Given the description of an element on the screen output the (x, y) to click on. 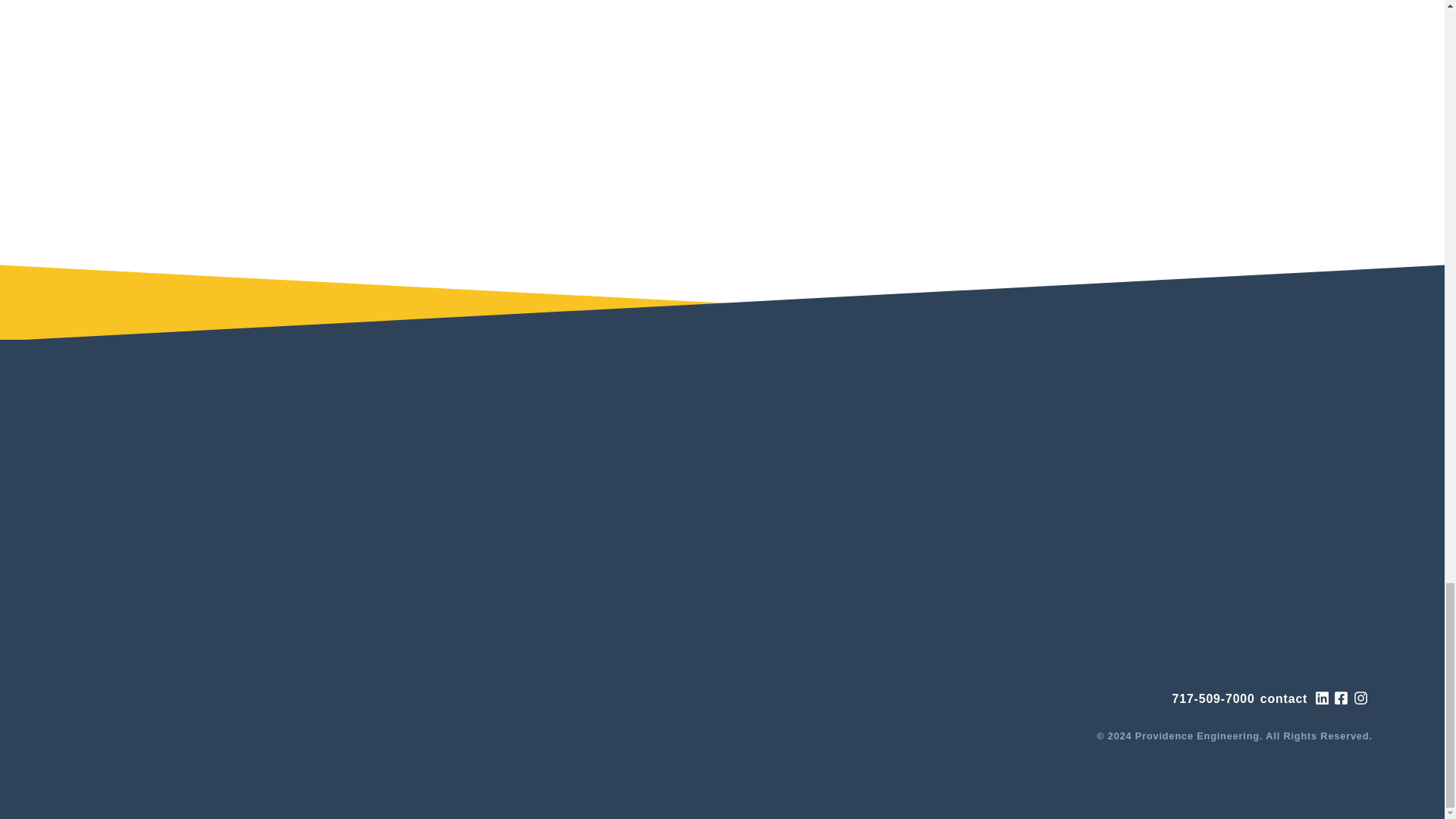
717-509-7000 (1213, 699)
contact (1283, 699)
